Given the description of an element on the screen output the (x, y) to click on. 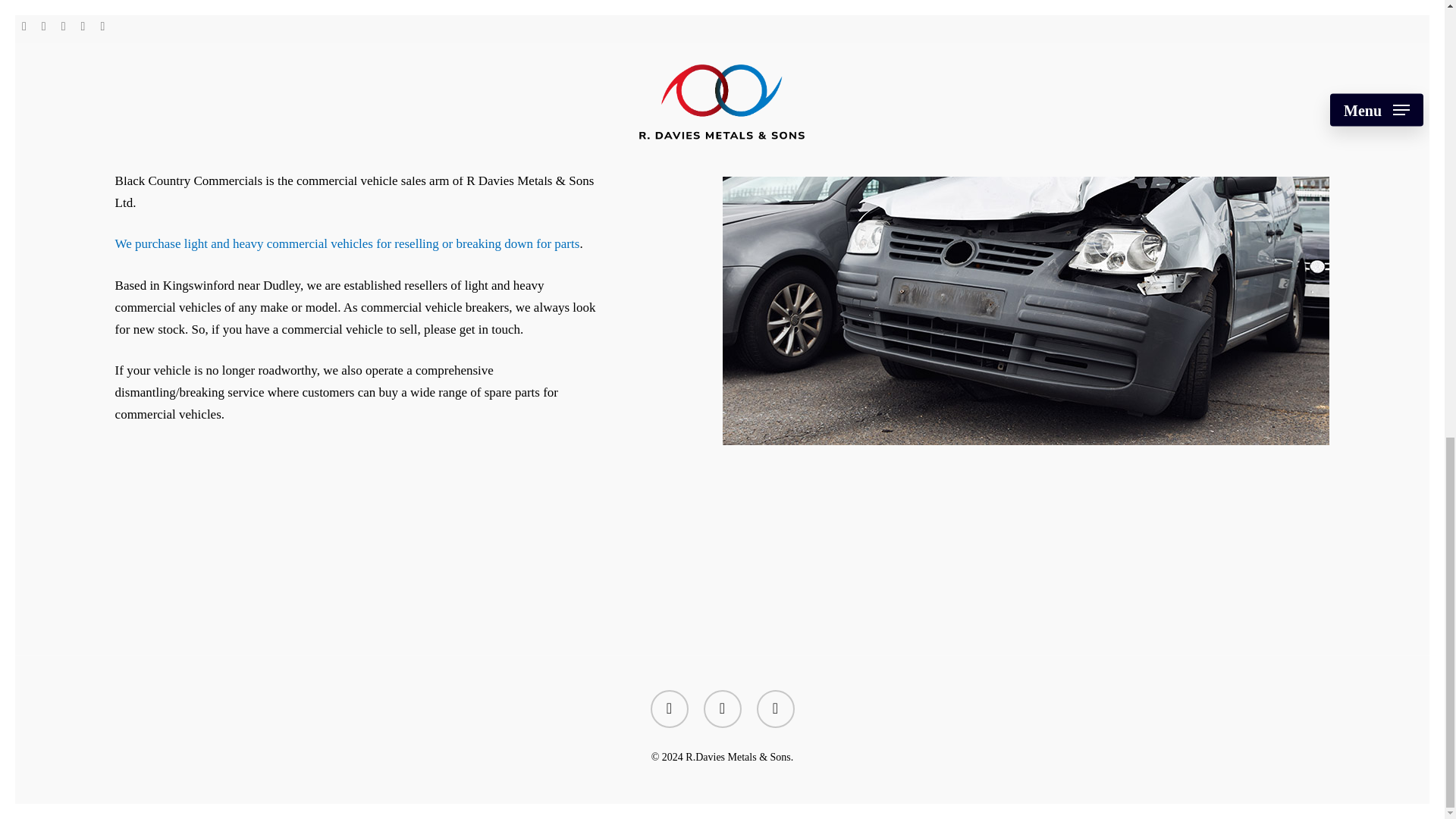
phone (722, 709)
email (775, 709)
facebook (669, 709)
